Given the description of an element on the screen output the (x, y) to click on. 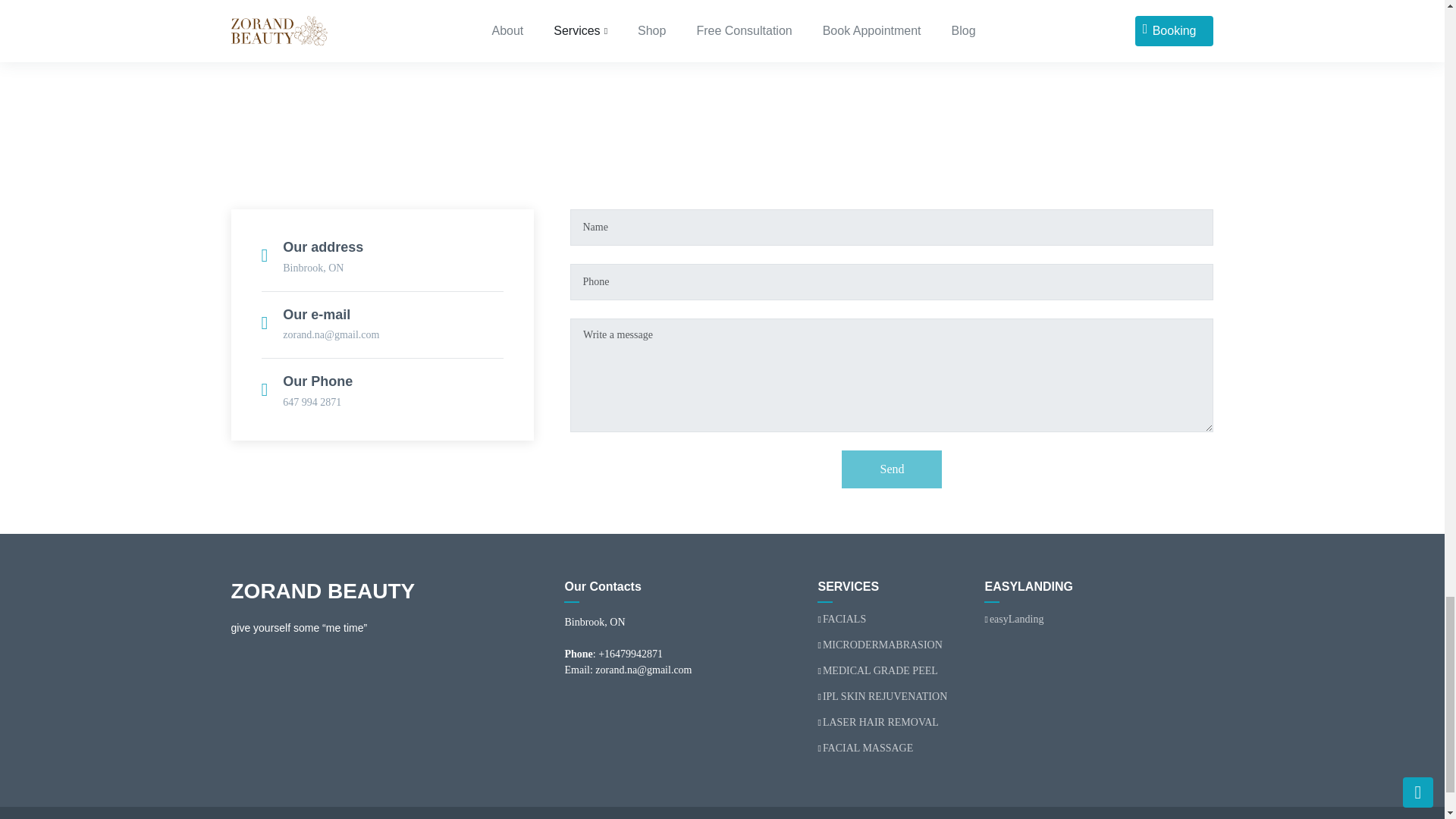
MEDICAL GRADE PEEL (879, 670)
MICRODERMABRASION (882, 644)
IPL SKIN REJUVENATION (884, 696)
FACIALS (844, 619)
LASER HAIR REMOVAL (880, 722)
easyLanding (1016, 619)
FACIAL MASSAGE (867, 747)
